Given the description of an element on the screen output the (x, y) to click on. 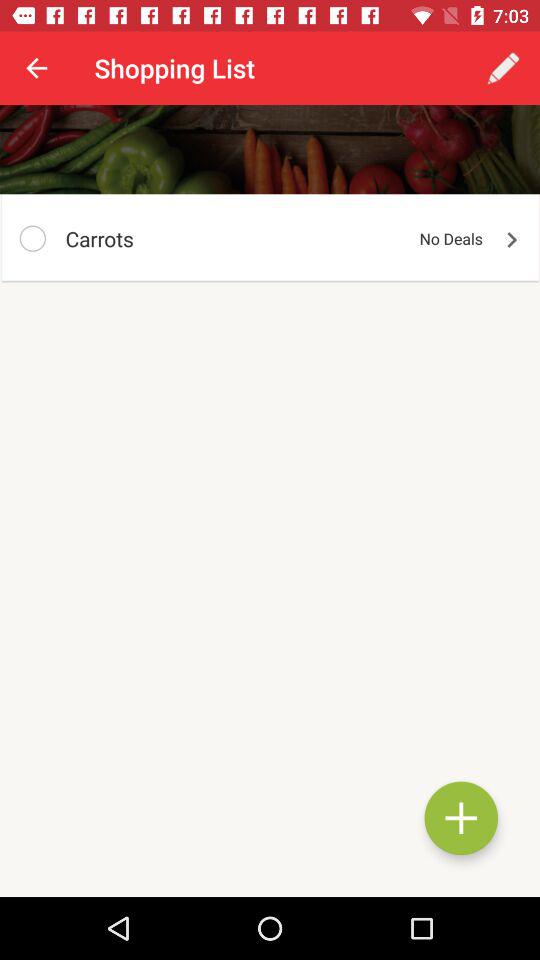
select app next to shopping list item (36, 68)
